Given the description of an element on the screen output the (x, y) to click on. 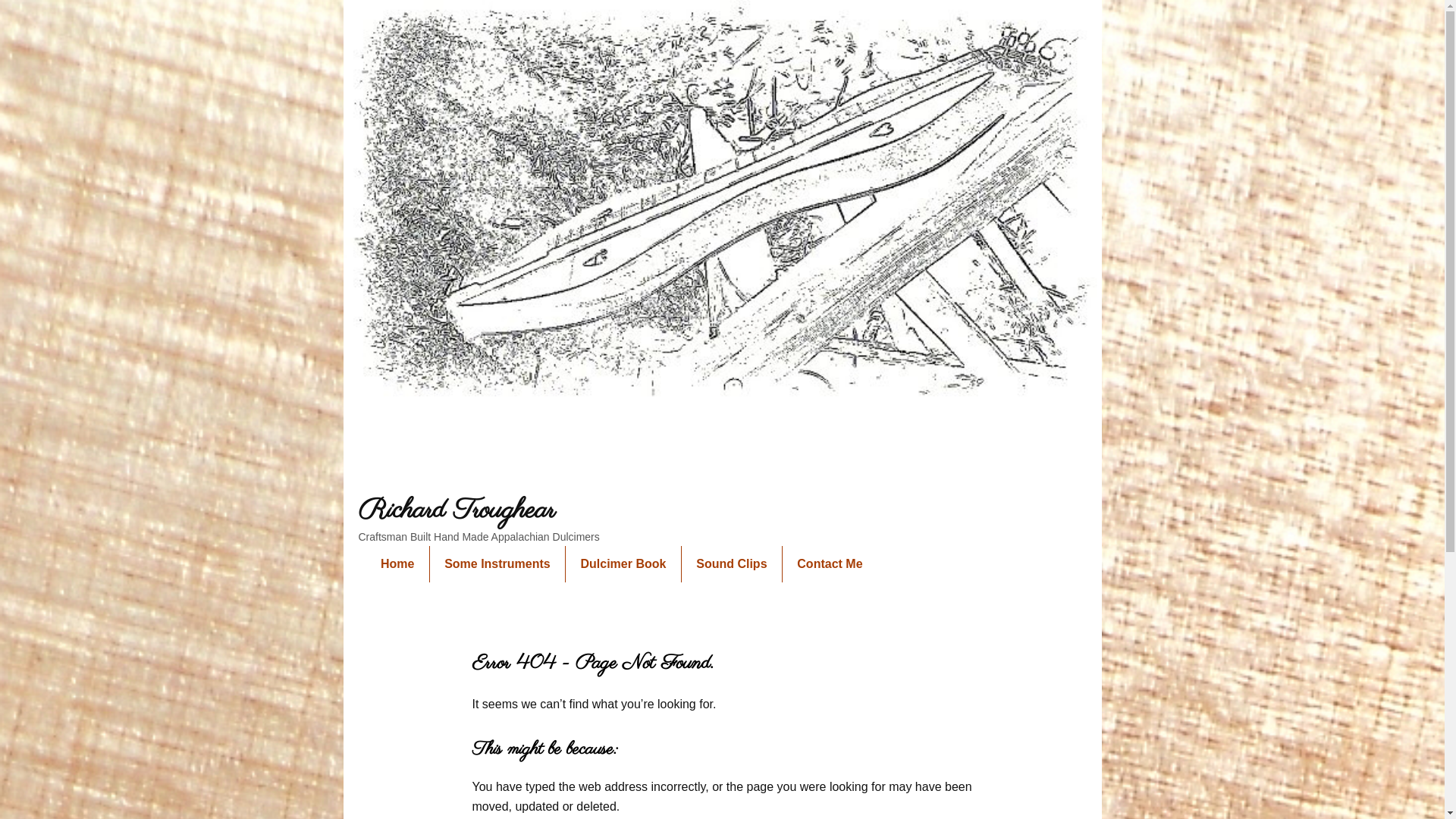
Some Instruments Element type: text (496, 564)
Dulcimer Book Element type: text (622, 564)
Richard Troughear Element type: text (455, 510)
Home Element type: text (396, 564)
Richard Troughear Element type: hover (721, 470)
Contact Me Element type: text (829, 564)
Sound Clips Element type: text (731, 564)
